Given the description of an element on the screen output the (x, y) to click on. 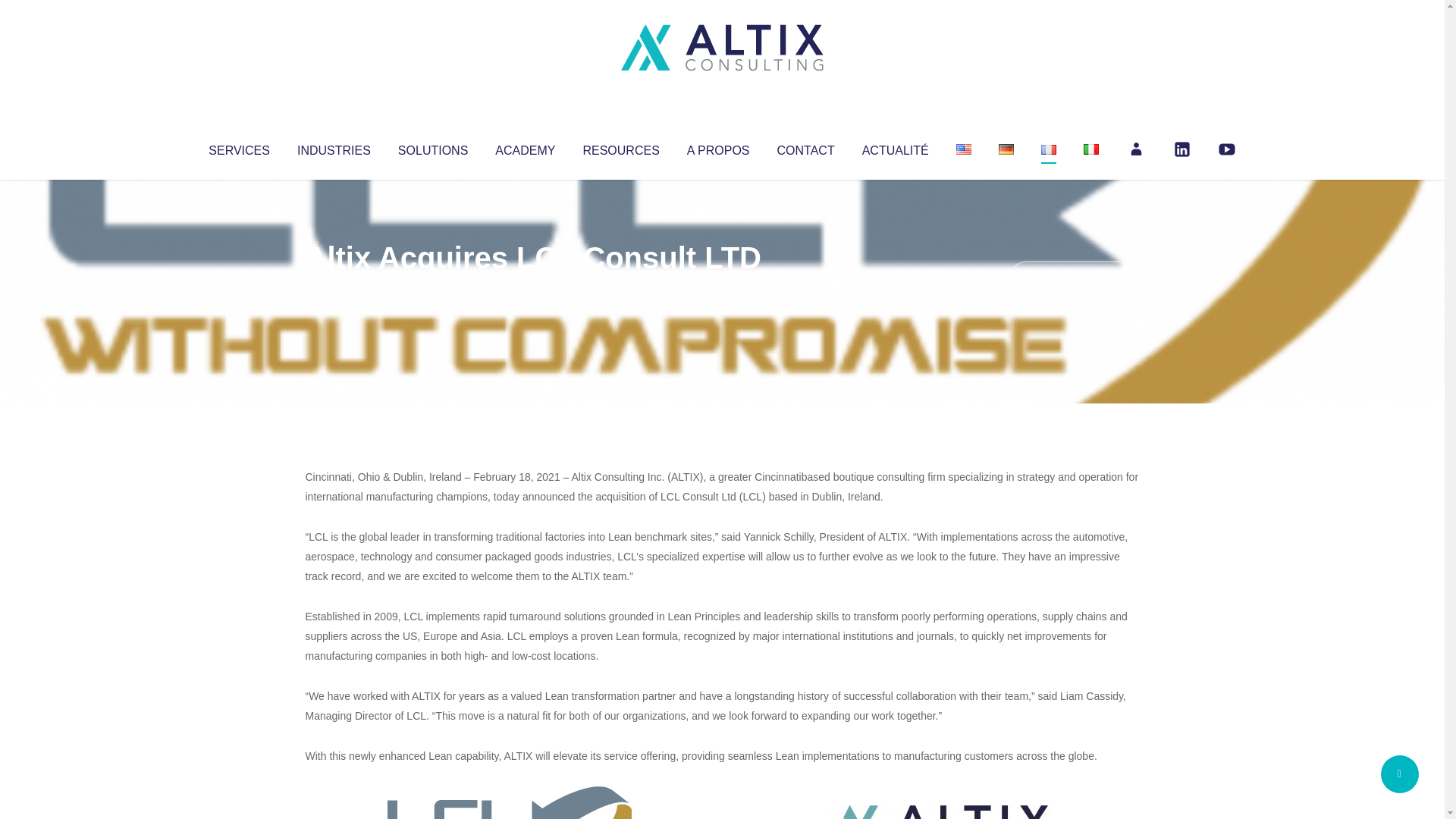
Articles par Altix (333, 287)
SERVICES (238, 146)
No Comments (1073, 278)
INDUSTRIES (334, 146)
Altix (333, 287)
ACADEMY (524, 146)
Uncategorized (530, 287)
RESOURCES (620, 146)
SOLUTIONS (432, 146)
A PROPOS (718, 146)
